Given the description of an element on the screen output the (x, y) to click on. 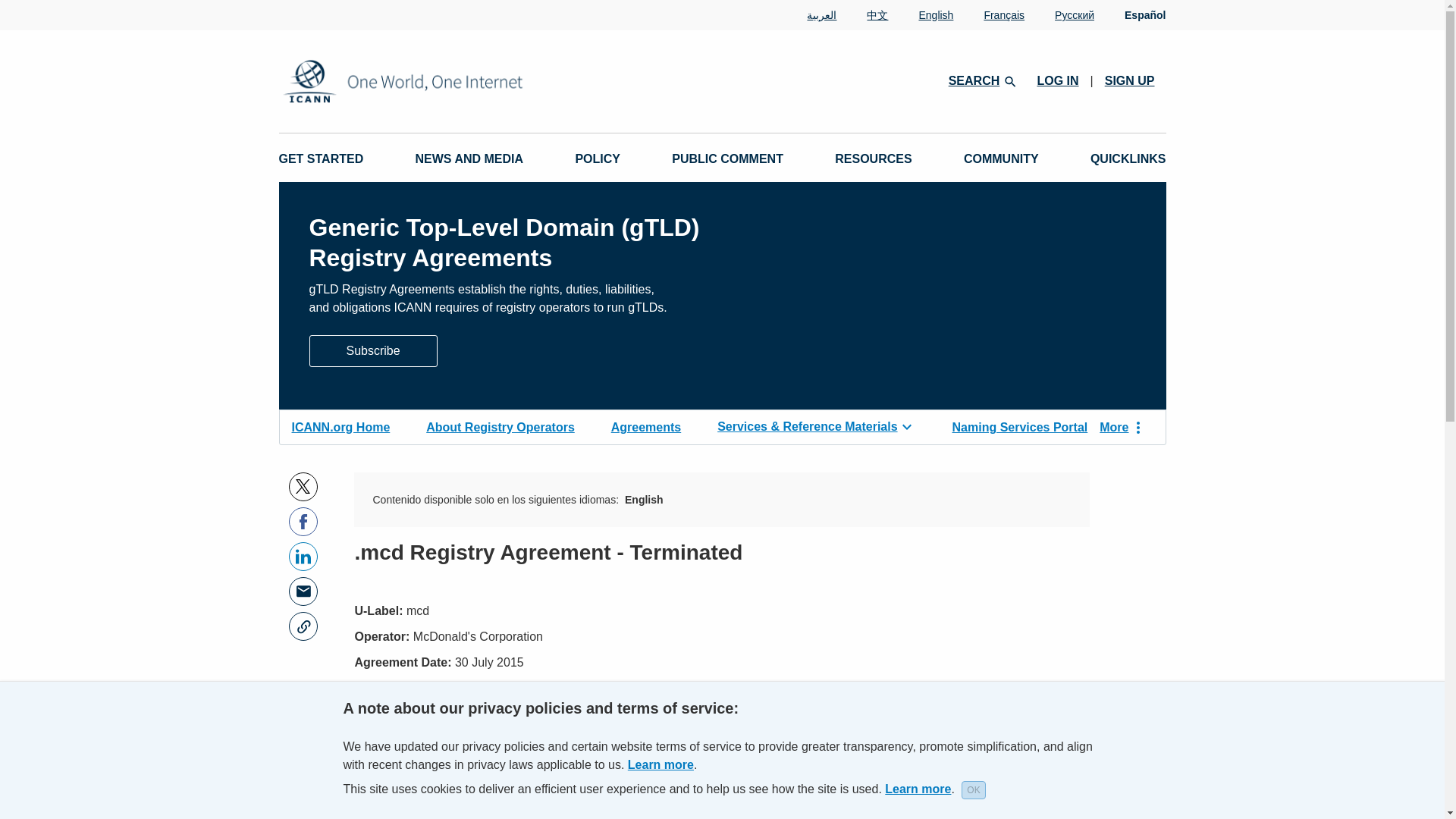
English (920, 14)
LOG IN (1057, 81)
Subscribe (373, 349)
Naming Services Portal (1019, 425)
SIGN UP (1129, 80)
OK (972, 790)
RESOURCES (872, 158)
About Registry Operators (500, 425)
Subscribe (373, 350)
POLICY (597, 158)
QUICKLINKS (1128, 158)
SEARCH (981, 79)
Agreements (646, 425)
Learn more (917, 788)
Logo (452, 81)
